Given the description of an element on the screen output the (x, y) to click on. 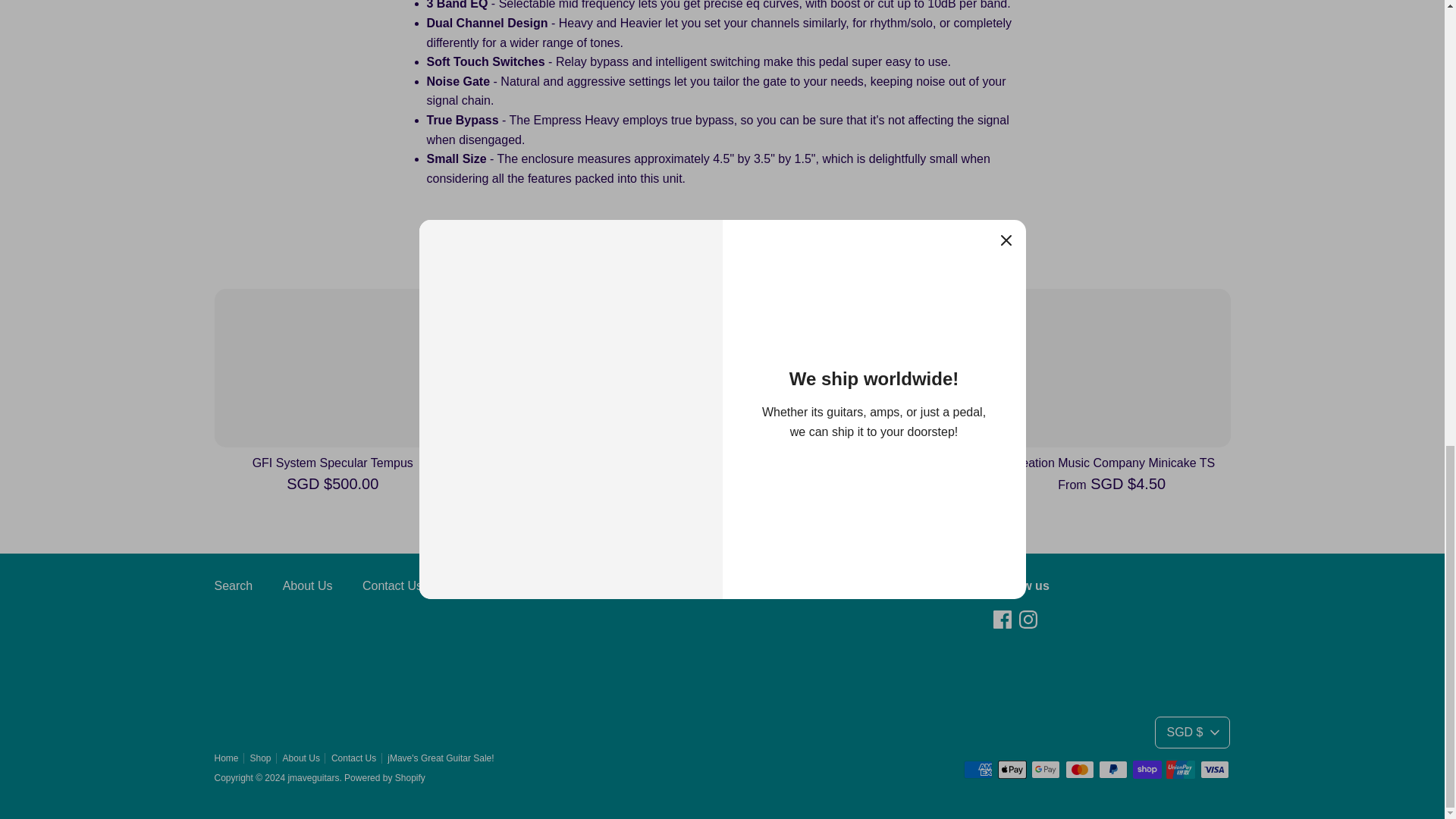
Shop Pay (1146, 769)
Apple Pay (1011, 769)
American Express (977, 769)
Visa (1213, 769)
Mastercard (1079, 769)
PayPal (1112, 769)
Google Pay (1044, 769)
Union Pay (1180, 769)
